Given the description of an element on the screen output the (x, y) to click on. 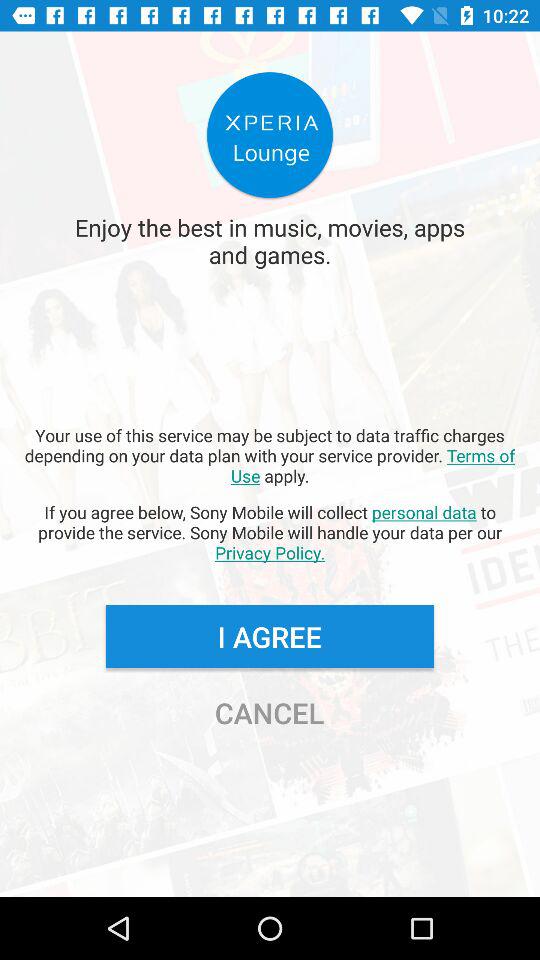
jump until your use of app (270, 455)
